Given the description of an element on the screen output the (x, y) to click on. 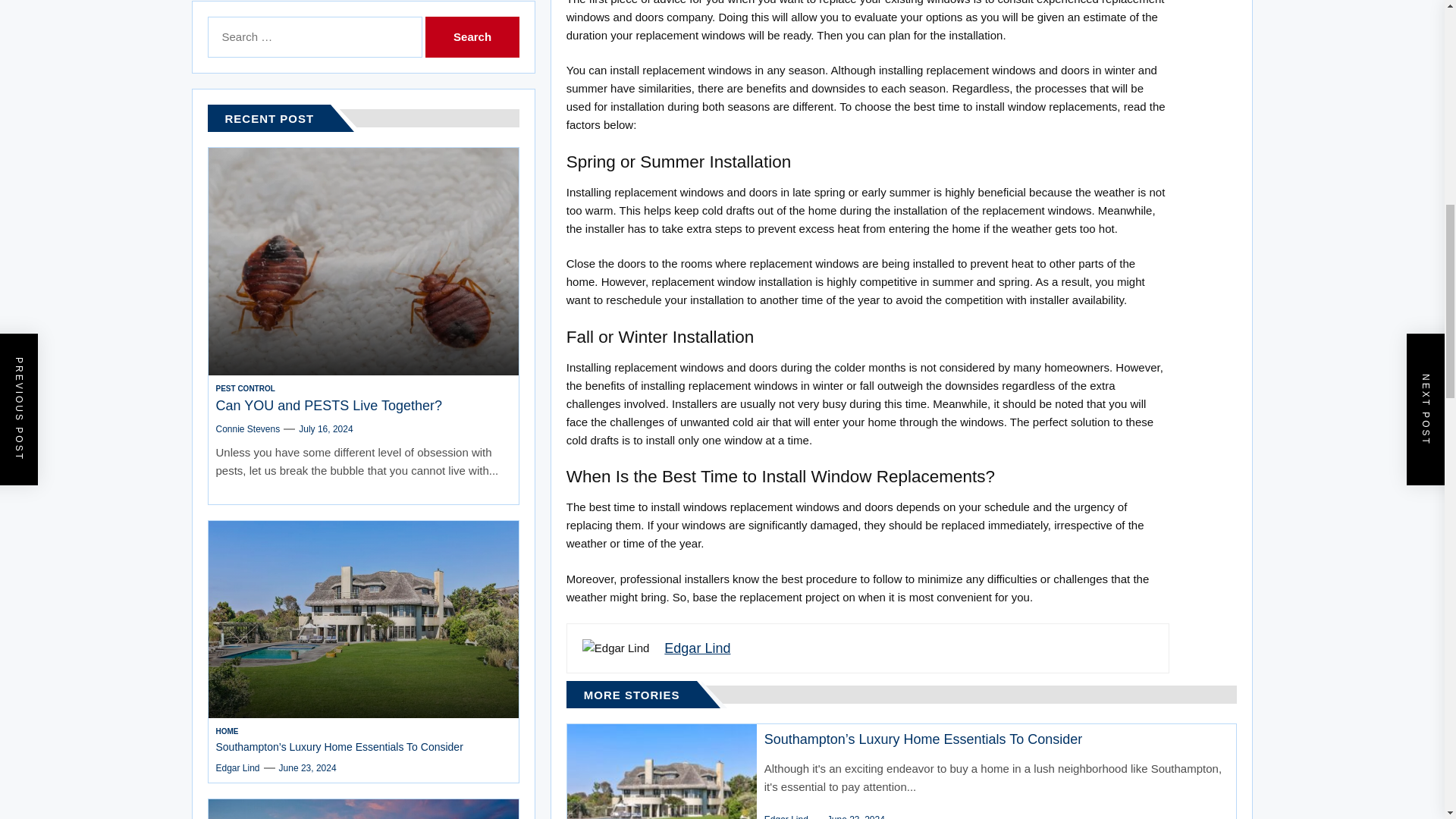
Unveiling San Luis Obispo: A Real Estate Perspective (341, 417)
